Given the description of an element on the screen output the (x, y) to click on. 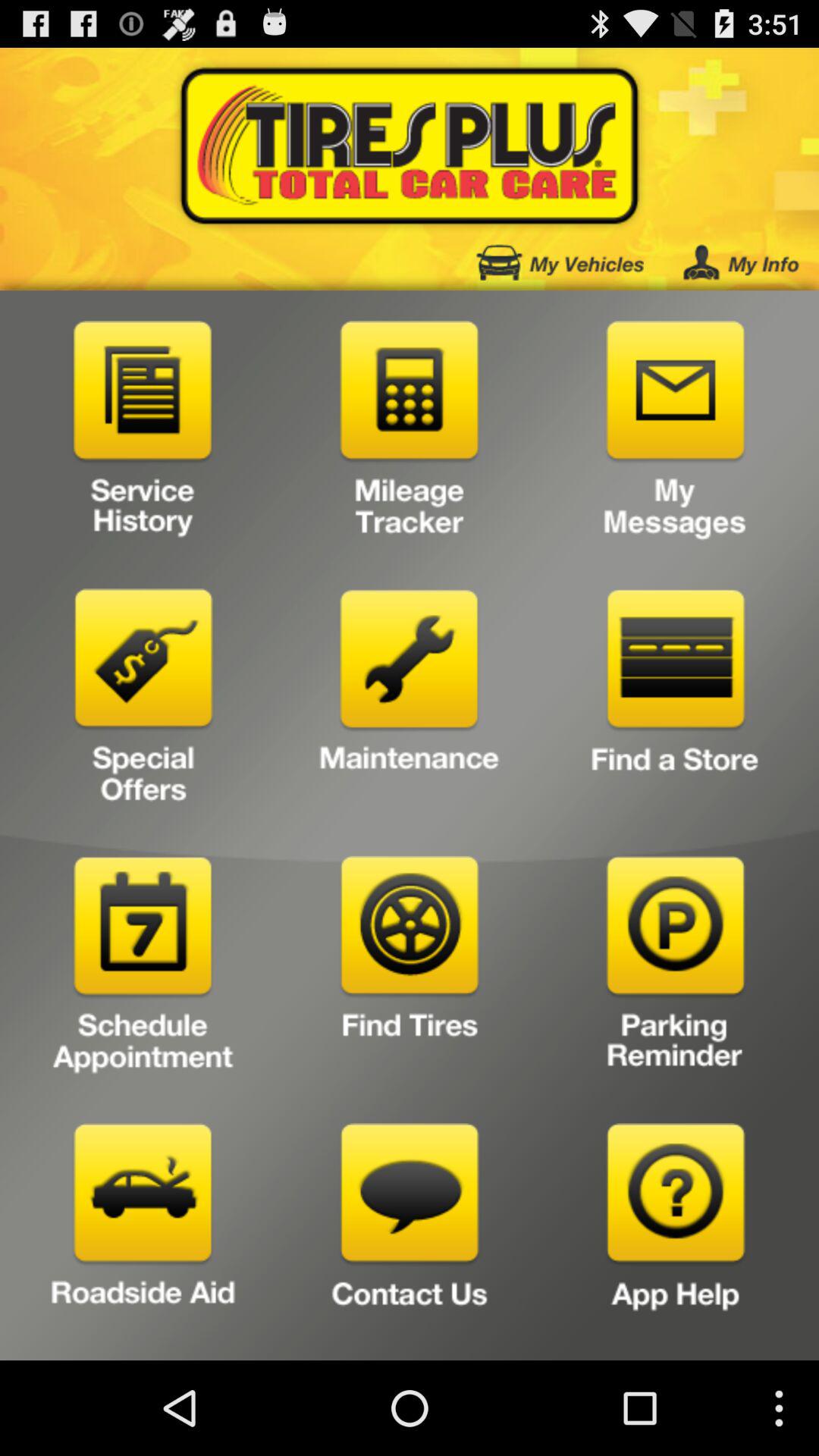
add your vehicles (559, 262)
